Given the description of an element on the screen output the (x, y) to click on. 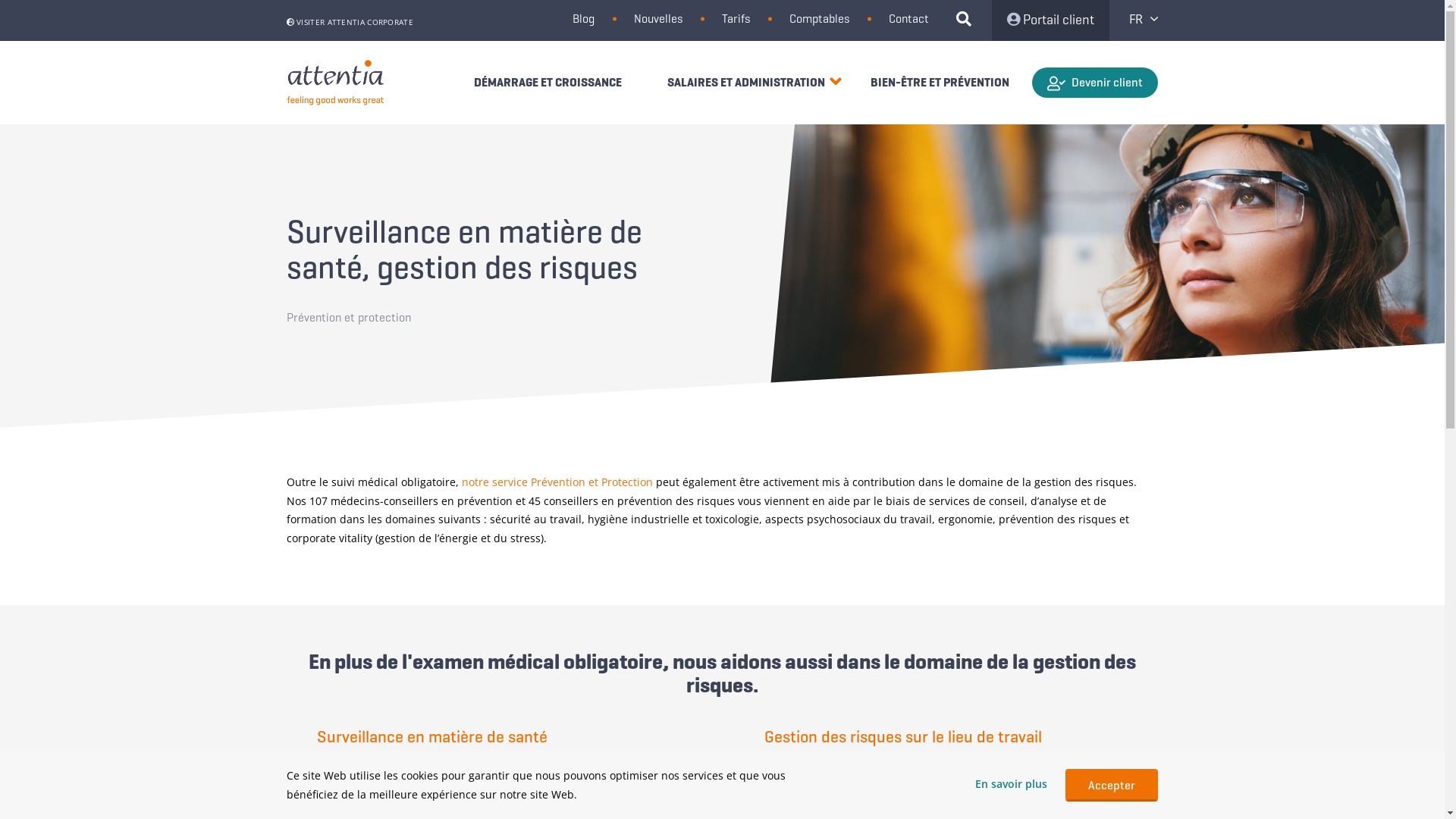
Home Element type: hover (335, 82)
Blog Element type: text (583, 18)
Search Element type: text (969, 20)
Comptables Element type: text (818, 18)
Portail client Element type: text (1050, 20)
SALAIRES ET ADMINISTRATION Element type: text (745, 82)
Tarifs Element type: text (735, 18)
Nouvelles Element type: text (658, 18)
VISITER ATTENTIA CORPORATE Element type: text (349, 21)
En savoir plus Element type: text (1011, 784)
Devenir client Element type: text (1094, 82)
Contact Element type: text (908, 18)
